Given the description of an element on the screen output the (x, y) to click on. 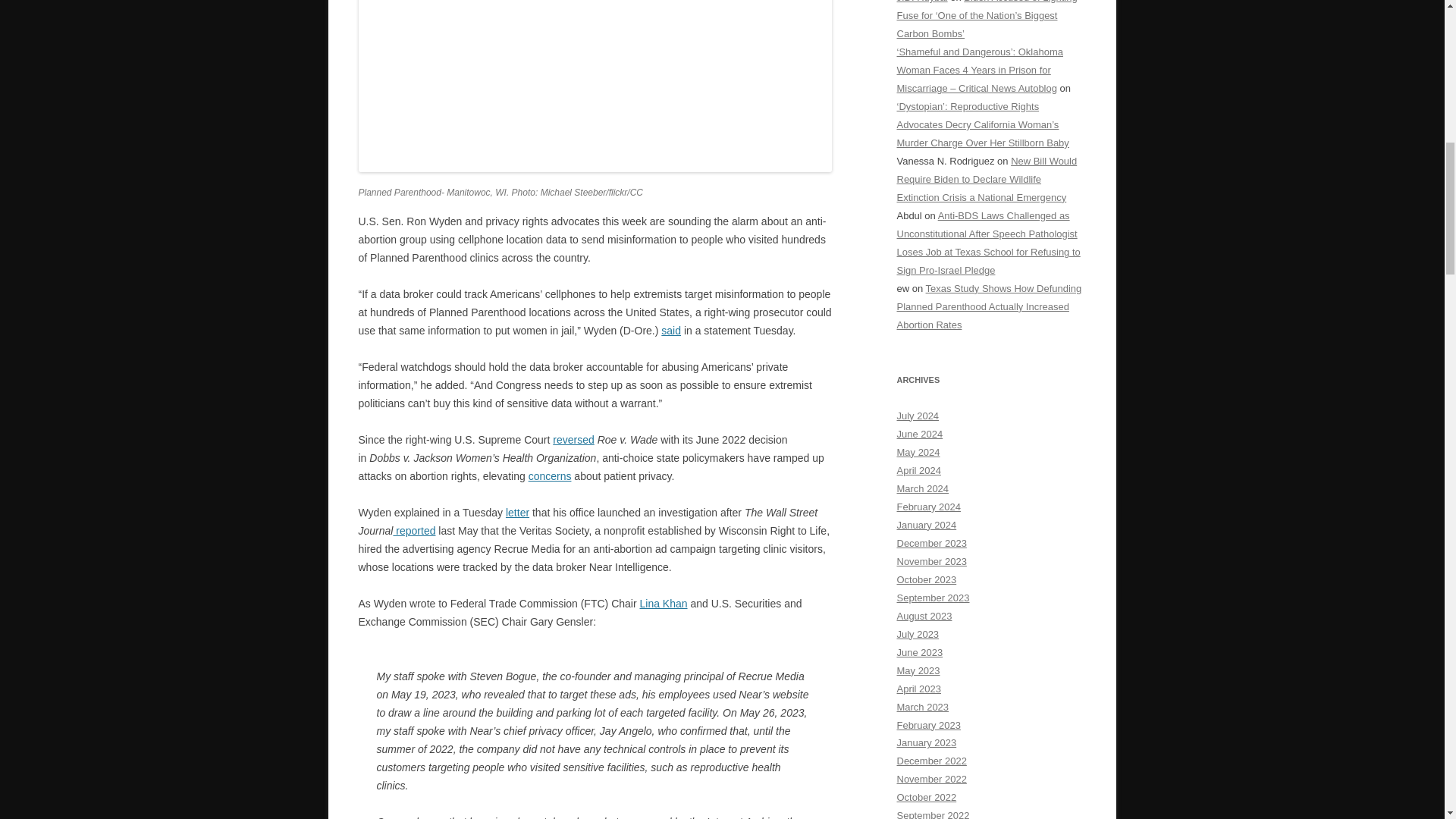
concerns (550, 476)
Lina Khan (663, 603)
said (671, 330)
letter (517, 512)
reversed (573, 439)
reported (414, 530)
